Given the description of an element on the screen output the (x, y) to click on. 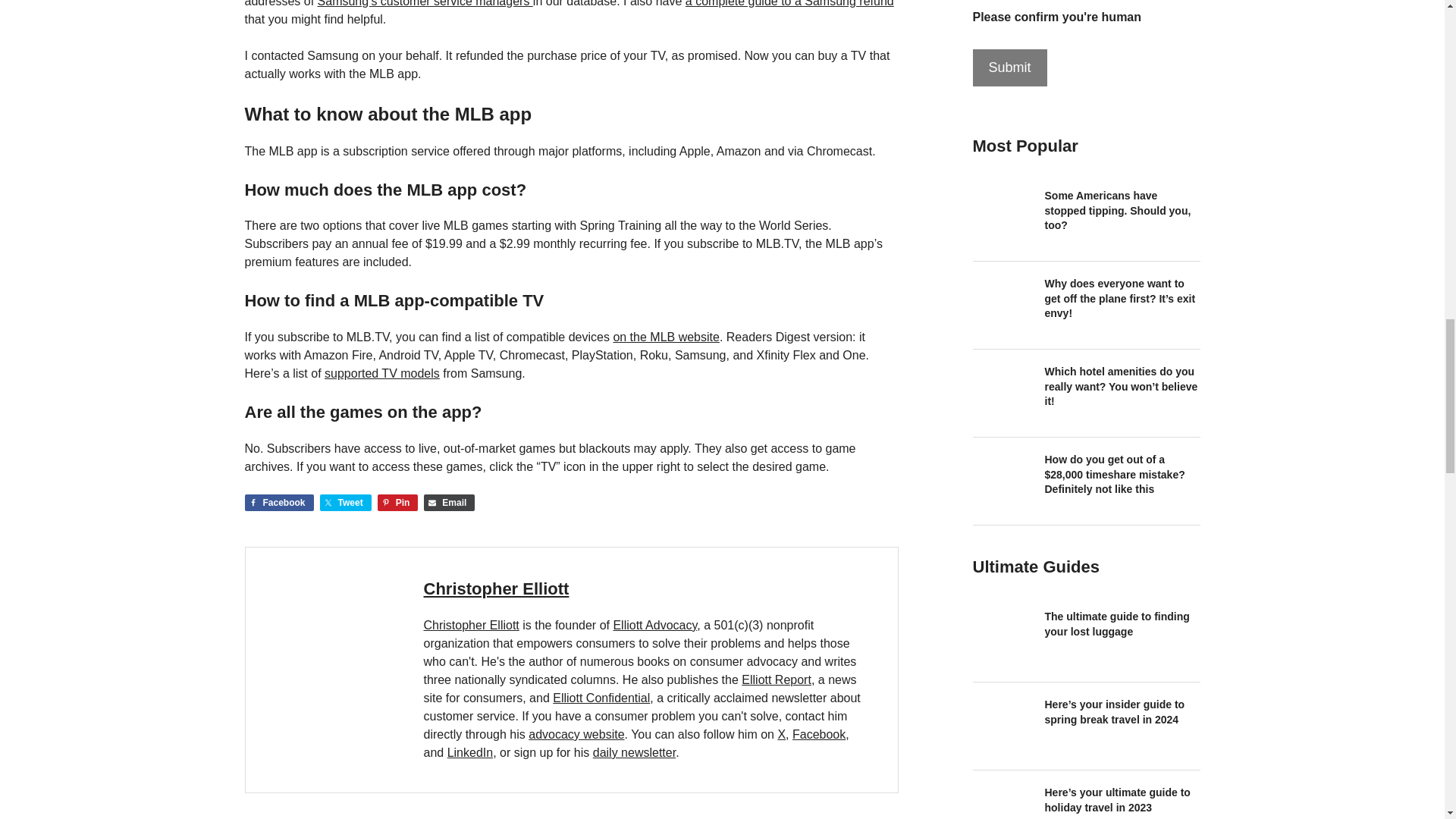
Share via Email (448, 502)
Email (448, 502)
Submit (1009, 67)
Share on Facebook (278, 502)
Share on Pinterest (398, 502)
Share on Twitter (345, 502)
